Given the description of an element on the screen output the (x, y) to click on. 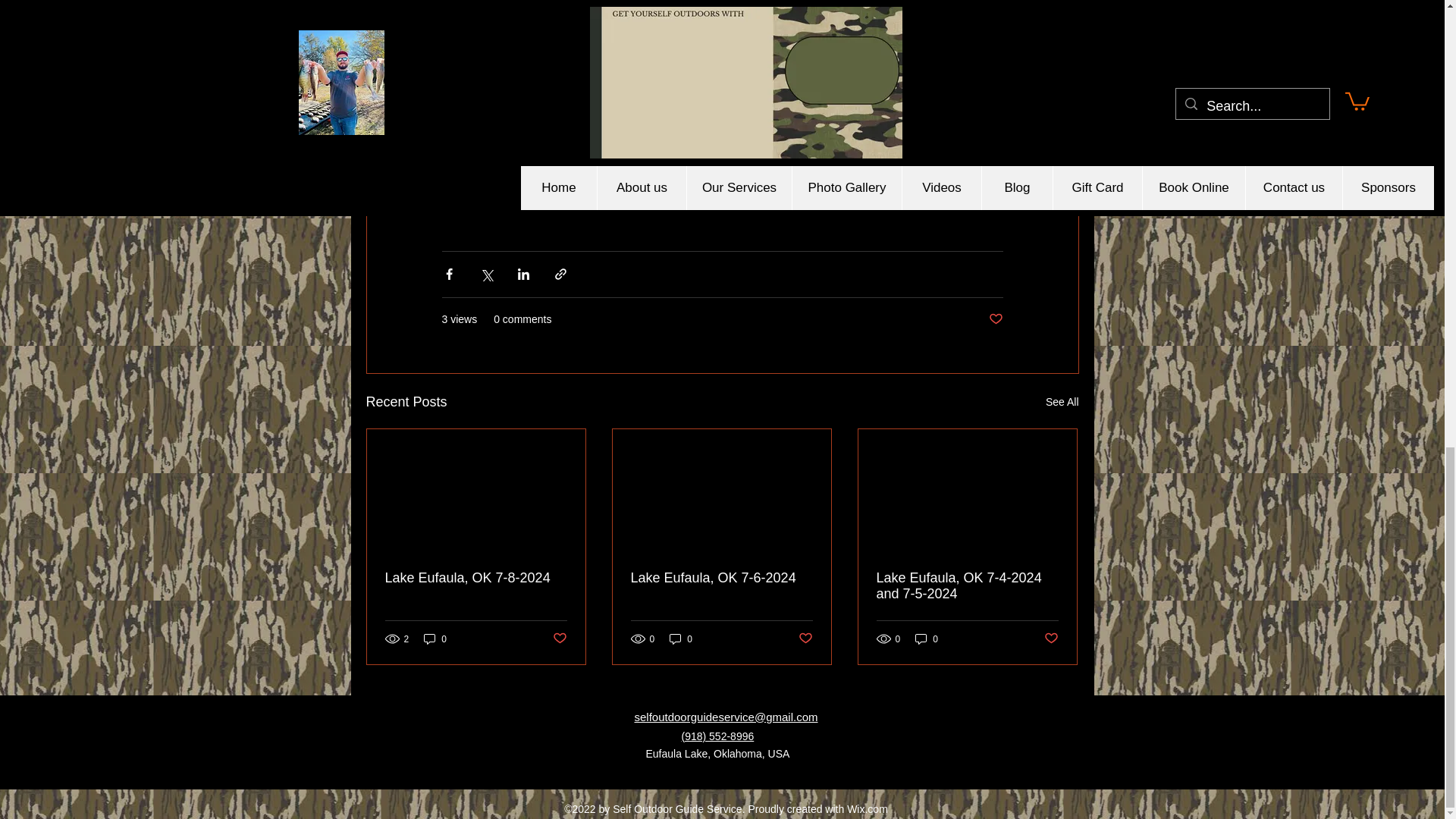
Lake Eufaula, OK 7-8-2024 (476, 578)
See All (1061, 402)
0 (435, 638)
Post not marked as liked (995, 319)
Post not marked as liked (558, 638)
